Given the description of an element on the screen output the (x, y) to click on. 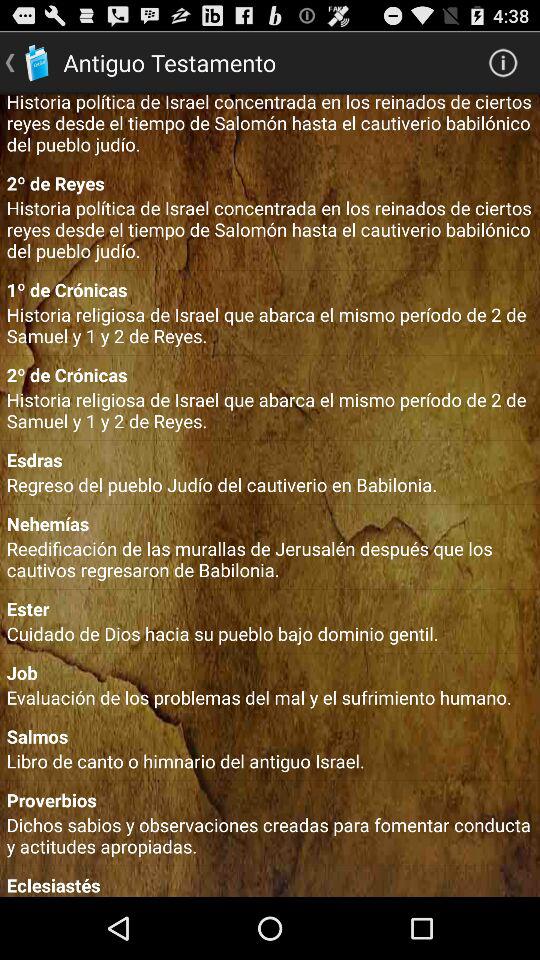
choose libro de canto icon (269, 760)
